Given the description of an element on the screen output the (x, y) to click on. 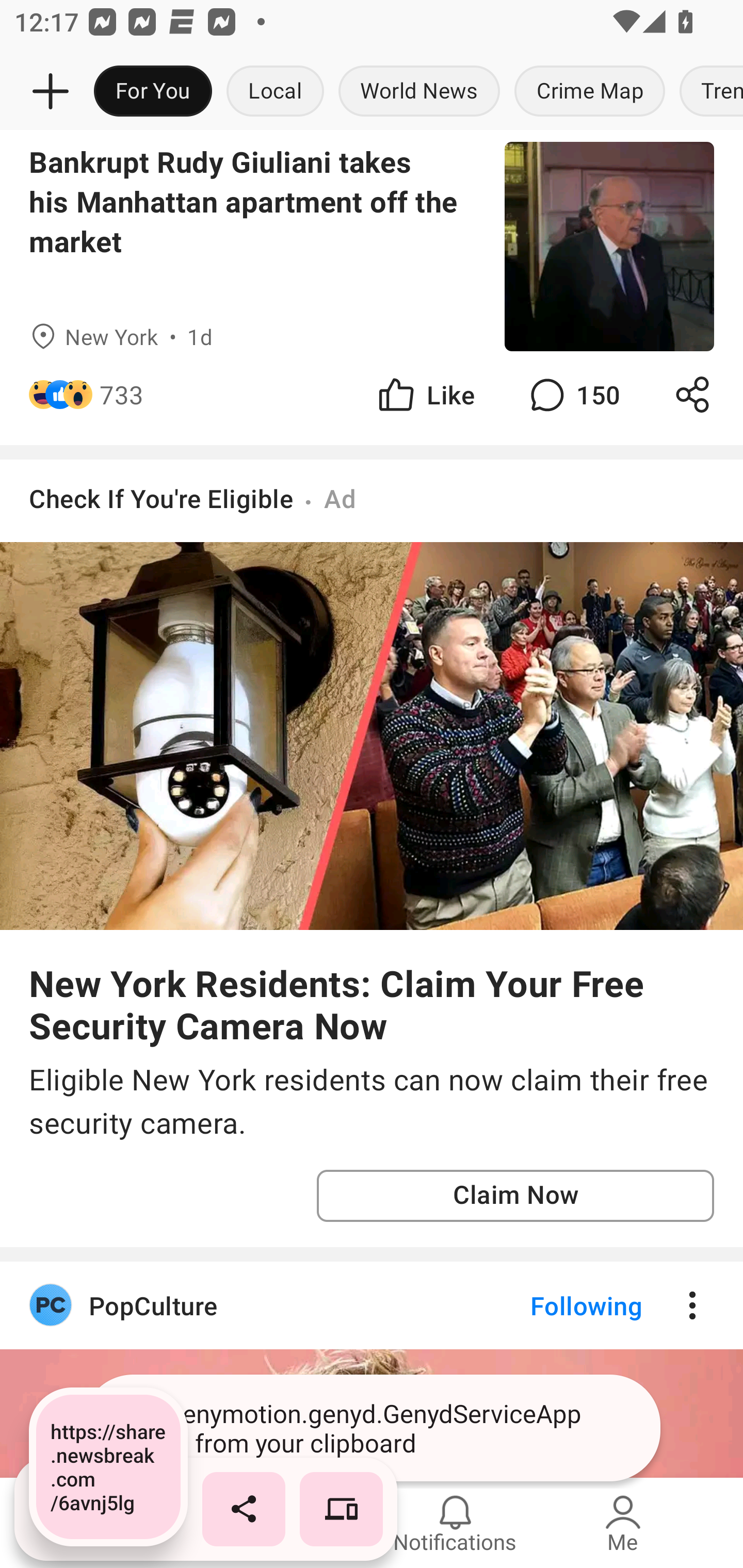
For You (152, 91)
Local (275, 91)
World News (419, 91)
Crime Map (589, 91)
733 (121, 394)
Like (425, 394)
150 (572, 394)
Check If You're Eligible (160, 498)
Claim Now (515, 1195)
PopCulture Following (371, 1306)
Following (569, 1306)
Notifications (455, 1522)
Me (622, 1522)
